Given the description of an element on the screen output the (x, y) to click on. 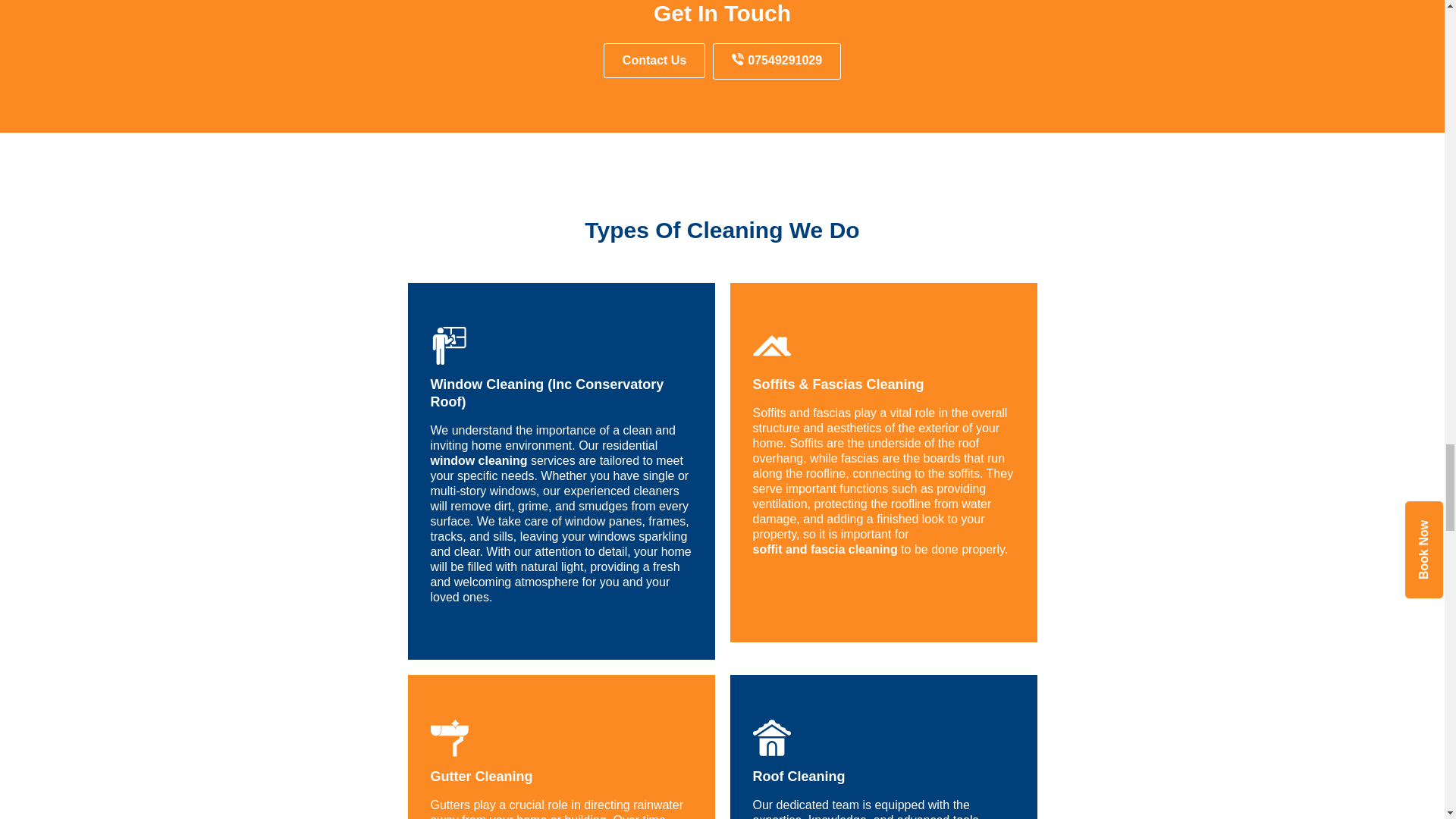
Contact Us (654, 60)
